Given the description of an element on the screen output the (x, y) to click on. 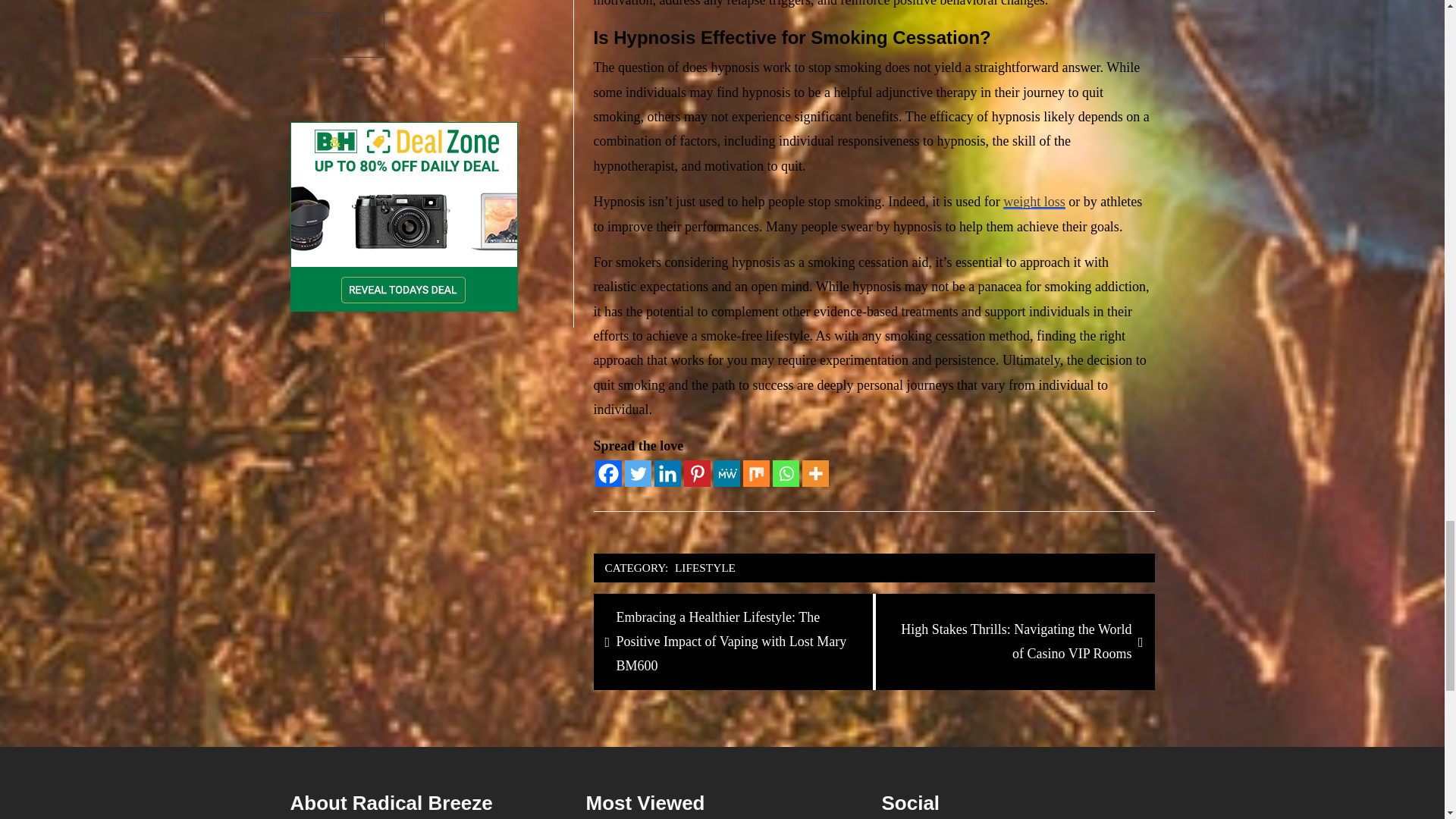
Pinterest (697, 473)
weight loss (1034, 201)
More (815, 473)
Mix (756, 473)
Whatsapp (786, 473)
Twitter (637, 473)
Linkedin (667, 473)
LIFESTYLE (705, 567)
